Given the description of an element on the screen output the (x, y) to click on. 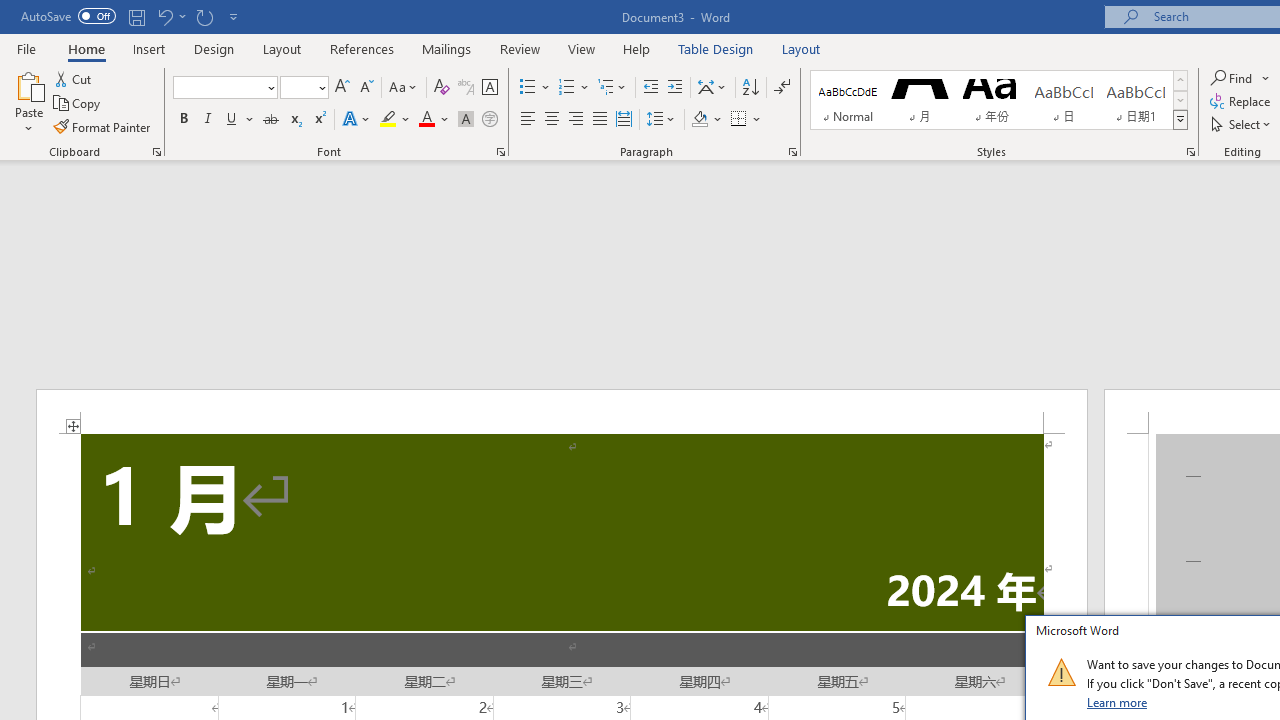
Font Color RGB(255, 0, 0) (426, 119)
Learn more (1118, 702)
